Given the description of an element on the screen output the (x, y) to click on. 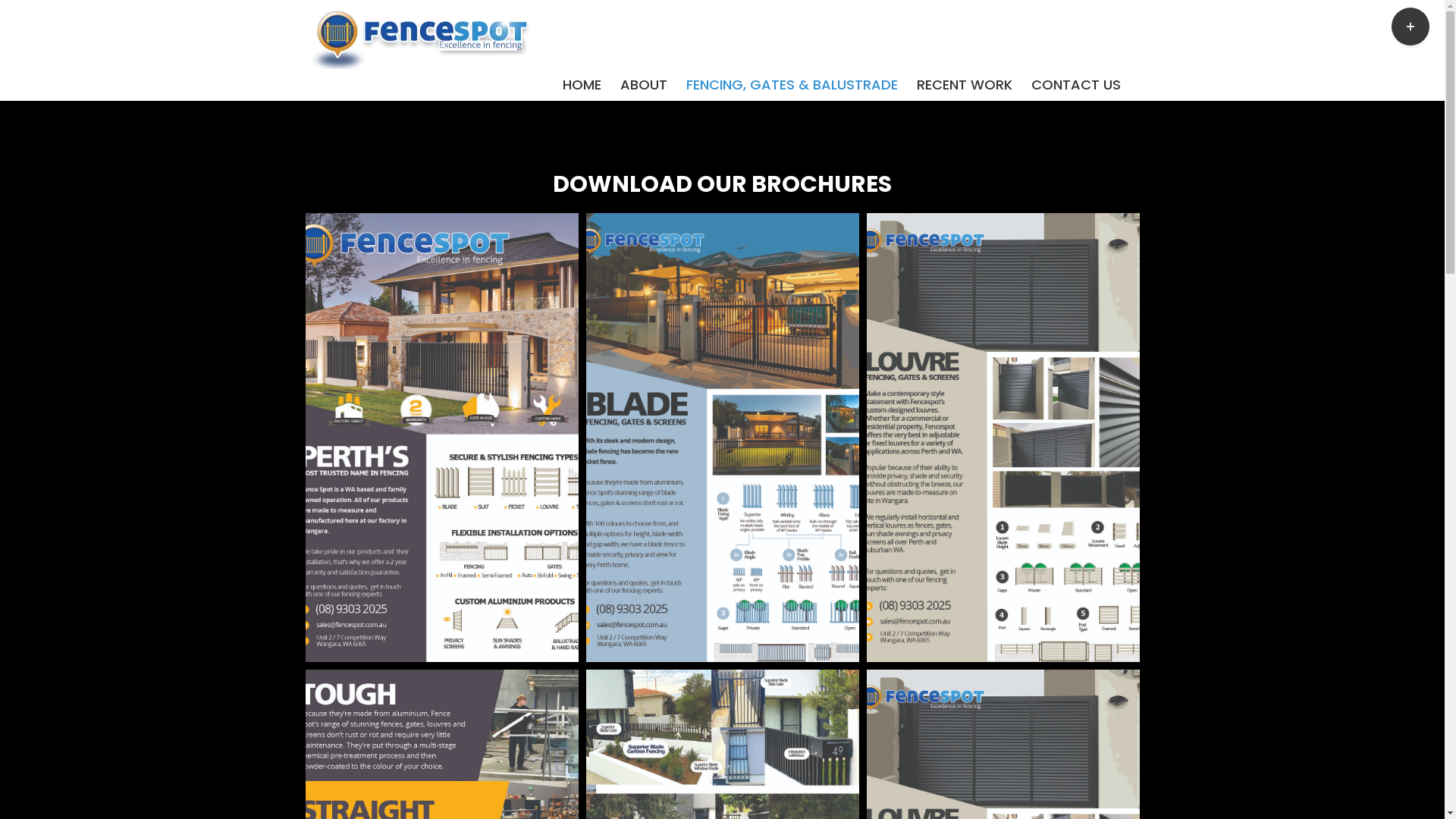
Toggle Sliding Bar Area Element type: text (1410, 26)
RECENT WORK Element type: text (963, 84)
HOME Element type: text (581, 84)
FENCING, GATES & BALUSTRADE Element type: text (791, 84)
CONTACT US Element type: text (1075, 84)
ABOUT Element type: text (643, 84)
